Given the description of an element on the screen output the (x, y) to click on. 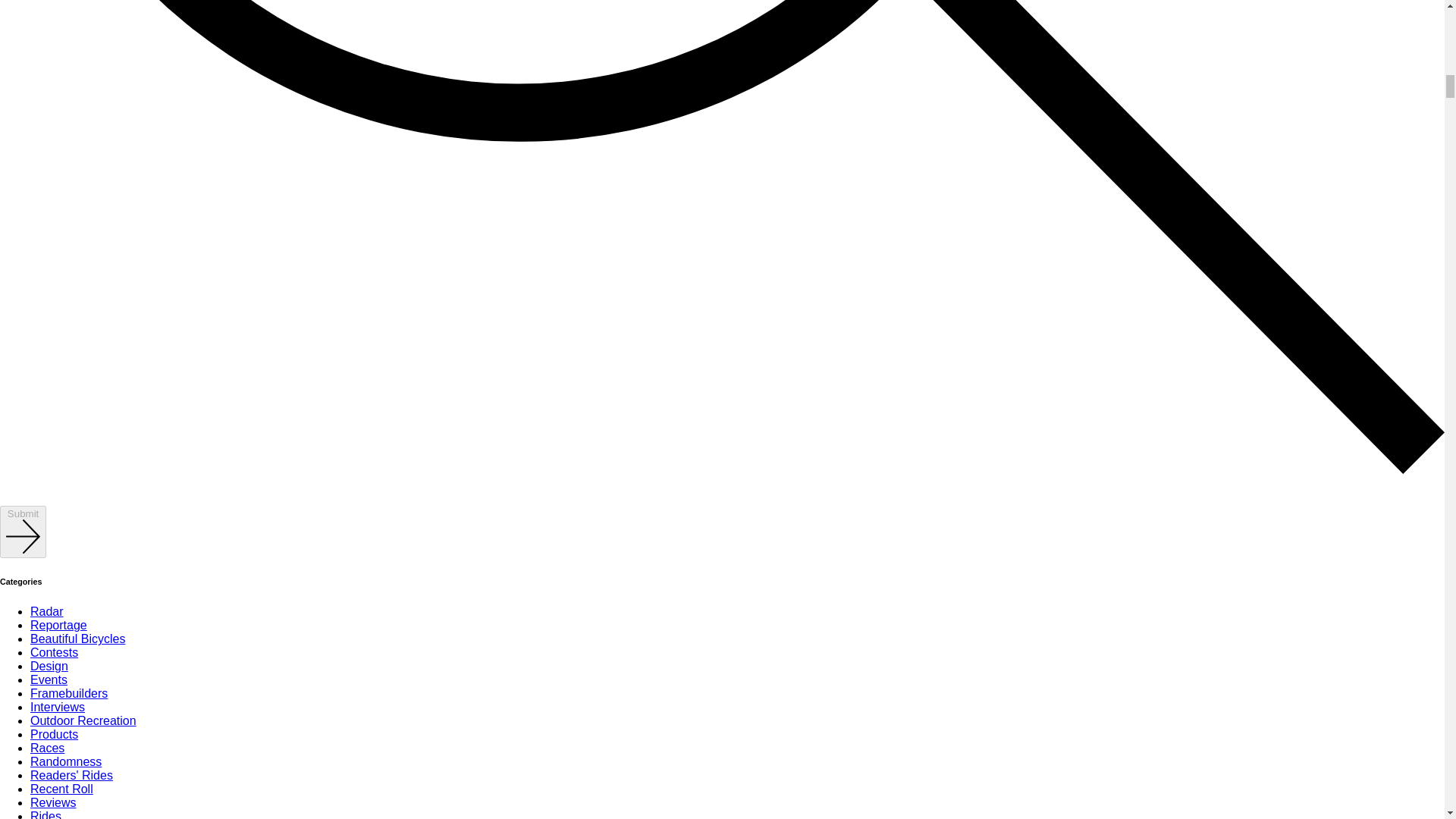
Products (54, 734)
Events (48, 679)
Readers' Rides (71, 775)
Races (47, 748)
Outdoor Recreation (83, 720)
Recent Roll (61, 788)
Reviews (52, 802)
Reportage (58, 625)
Rides (45, 814)
Contests (54, 652)
Radar (47, 611)
Beautiful Bicycles (77, 638)
Randomness (65, 761)
Framebuilders (68, 693)
Interviews (57, 707)
